Given the description of an element on the screen output the (x, y) to click on. 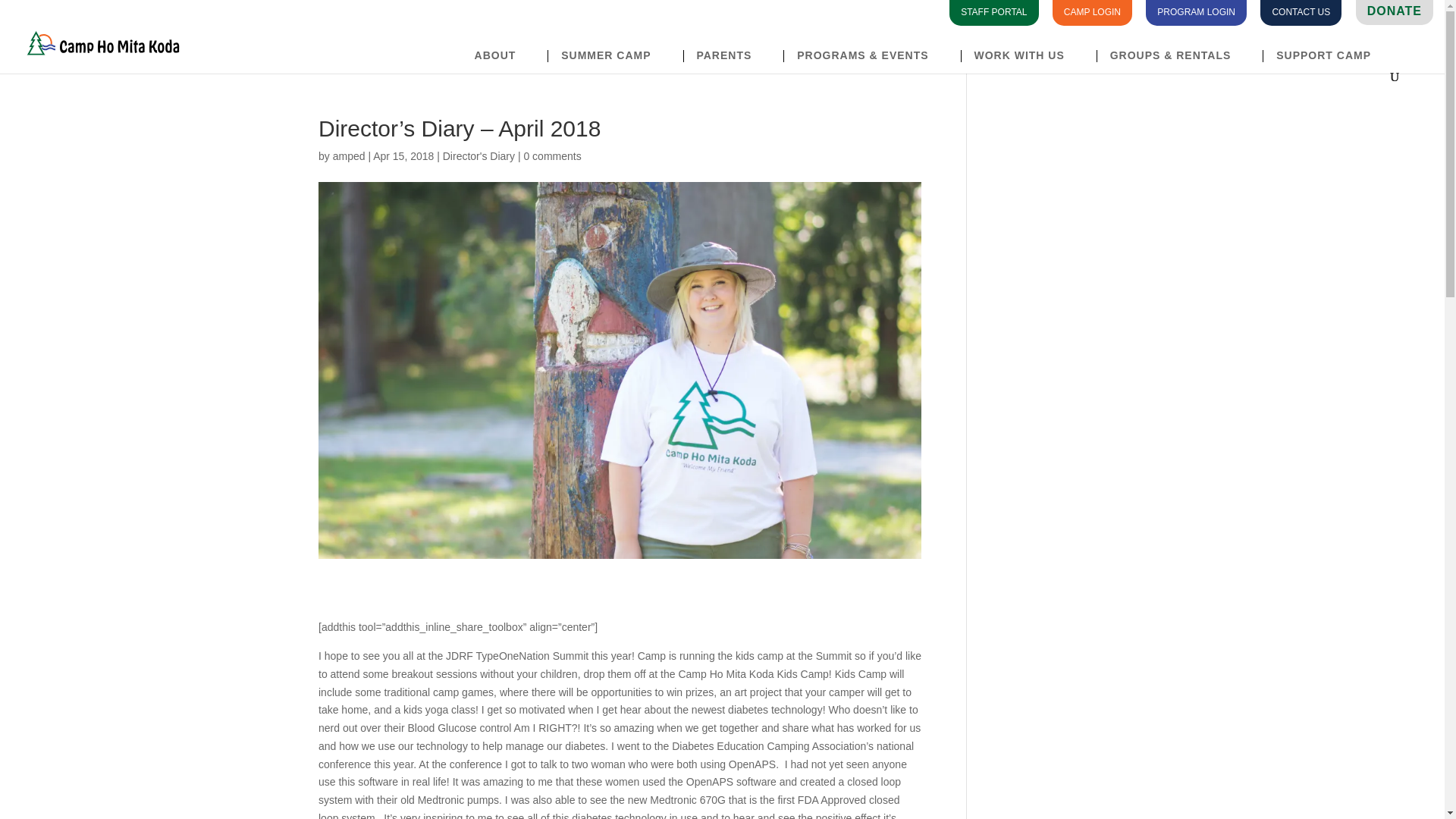
CONTACT US (1300, 11)
PROGRAM LOGIN (1195, 11)
SUMMER CAMP (612, 55)
ABOUT (502, 55)
STAFF PORTAL (993, 11)
Posts by amped (349, 155)
CAMP LOGIN (1092, 11)
PARENTS (731, 55)
DONATE (1394, 10)
